Given the description of an element on the screen output the (x, y) to click on. 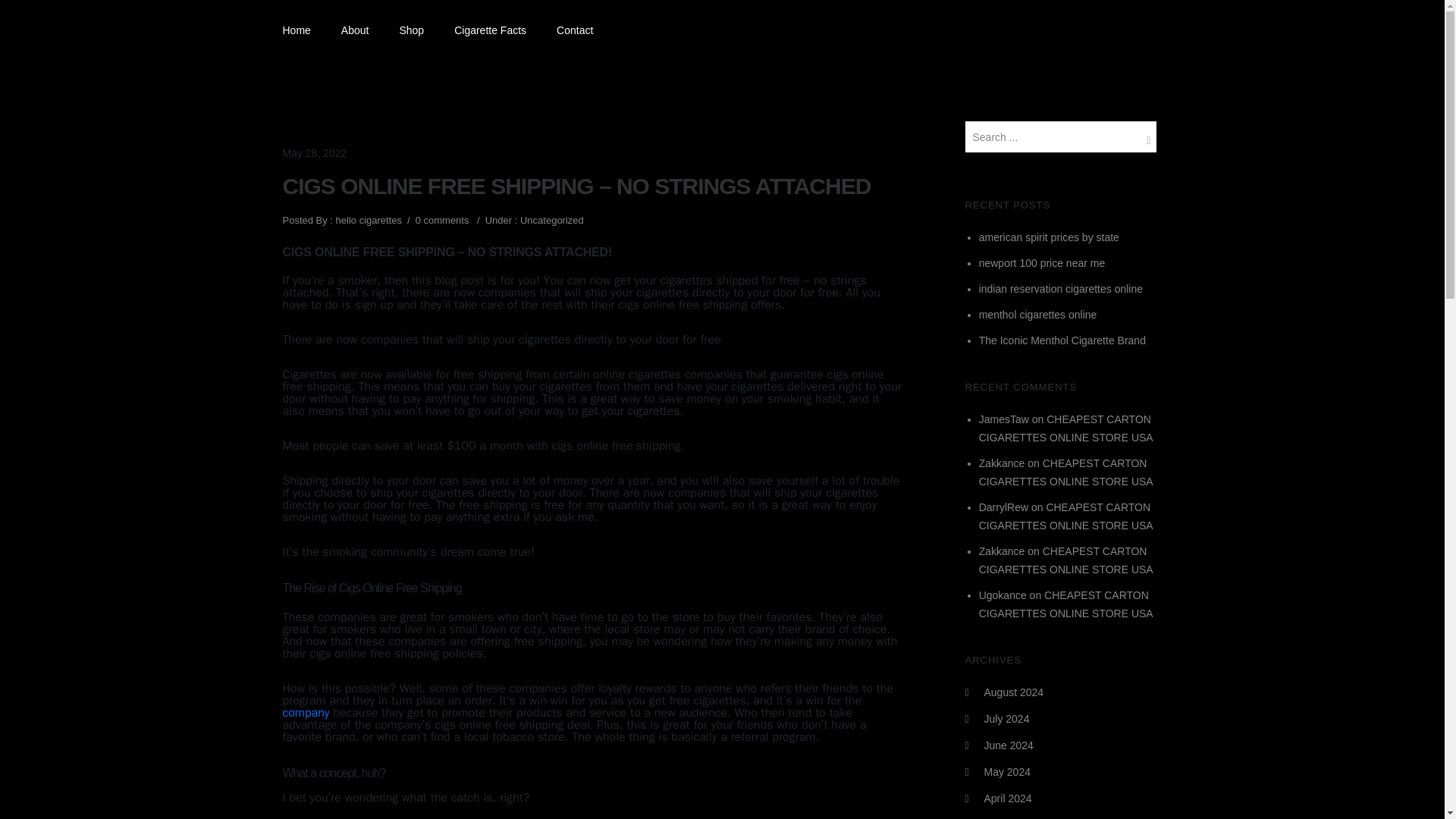
Shop (411, 30)
Cigarette Facts (490, 30)
american spirit prices by state (1048, 236)
Contact (574, 30)
Home (303, 30)
CHEAPEST CARTON CIGARETTES ONLINE STORE USA (1065, 428)
CHEAPEST CARTON CIGARETTES ONLINE STORE USA (1065, 560)
0 comments (441, 220)
JamesTaw (1003, 419)
company (305, 712)
